Given the description of an element on the screen output the (x, y) to click on. 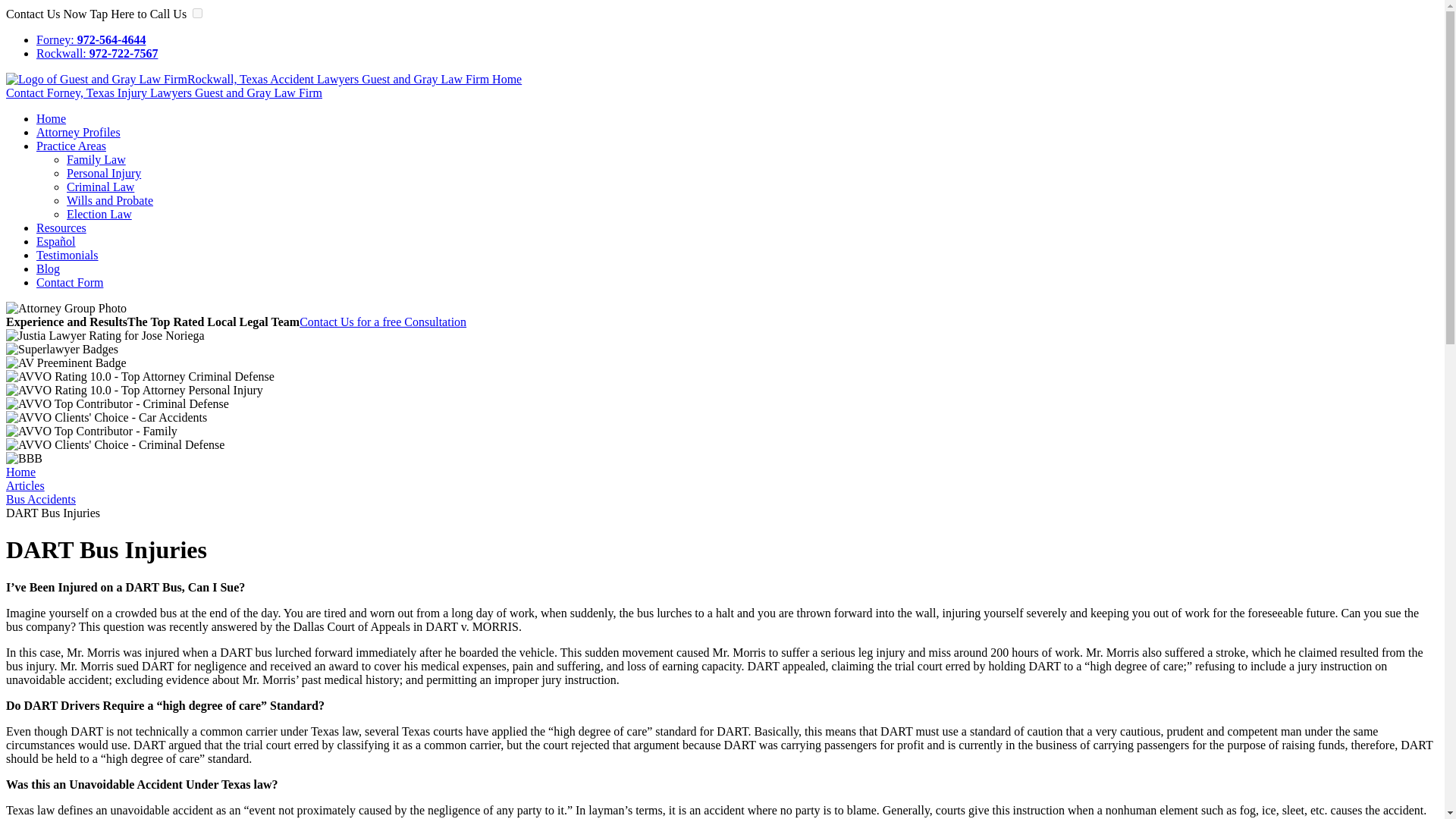
Personal Injury (103, 173)
Election Law (99, 214)
Contact Form (69, 282)
Home (19, 472)
Contact Forney, Texas Injury Lawyers Guest and Gray Law Firm (163, 92)
Resources (60, 227)
Family Law (95, 159)
Articles (25, 485)
on (197, 13)
Tap Here to Call Us (138, 13)
